Given the description of an element on the screen output the (x, y) to click on. 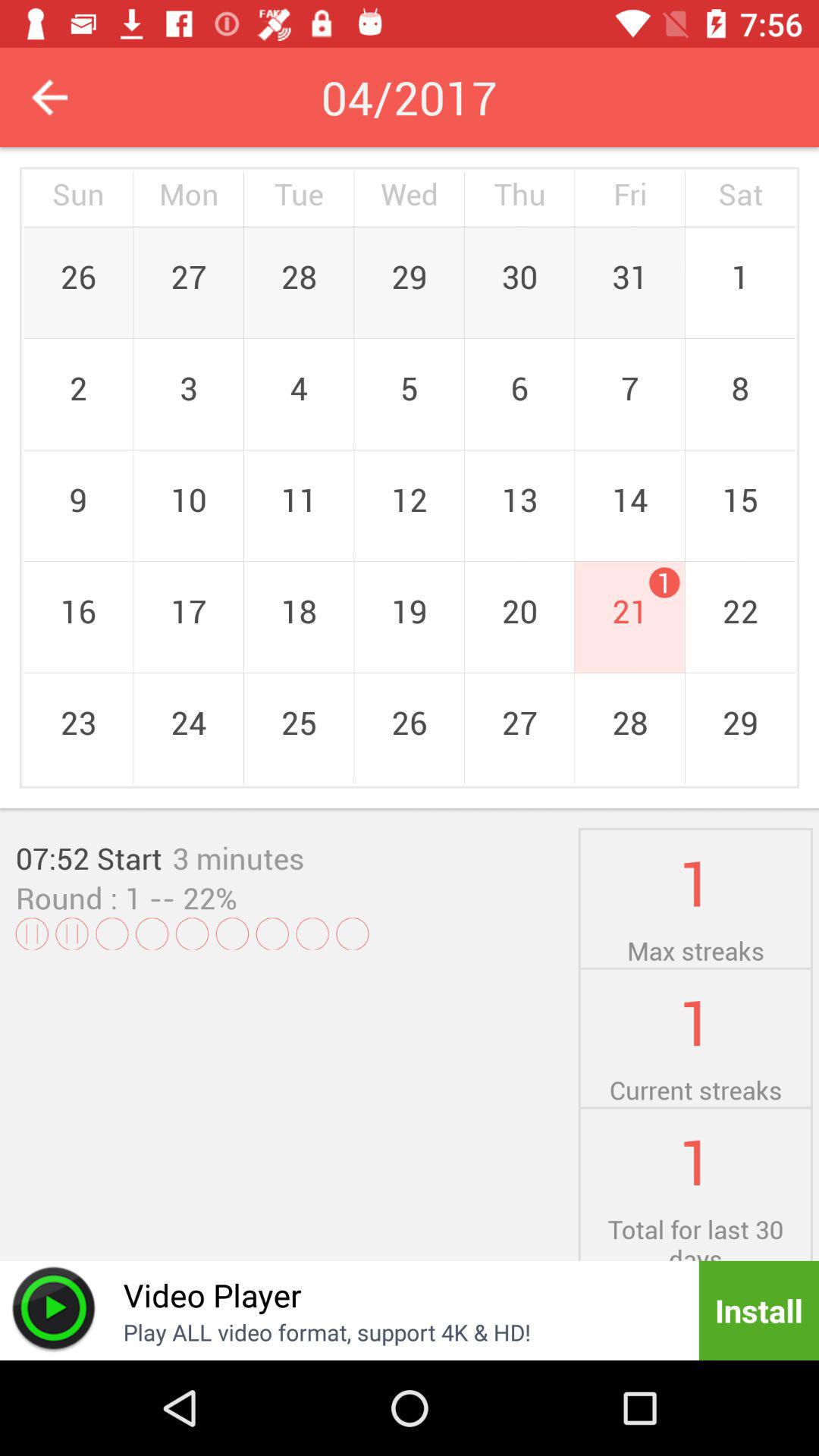
scroll to -- 22% (189, 897)
